Given the description of an element on the screen output the (x, y) to click on. 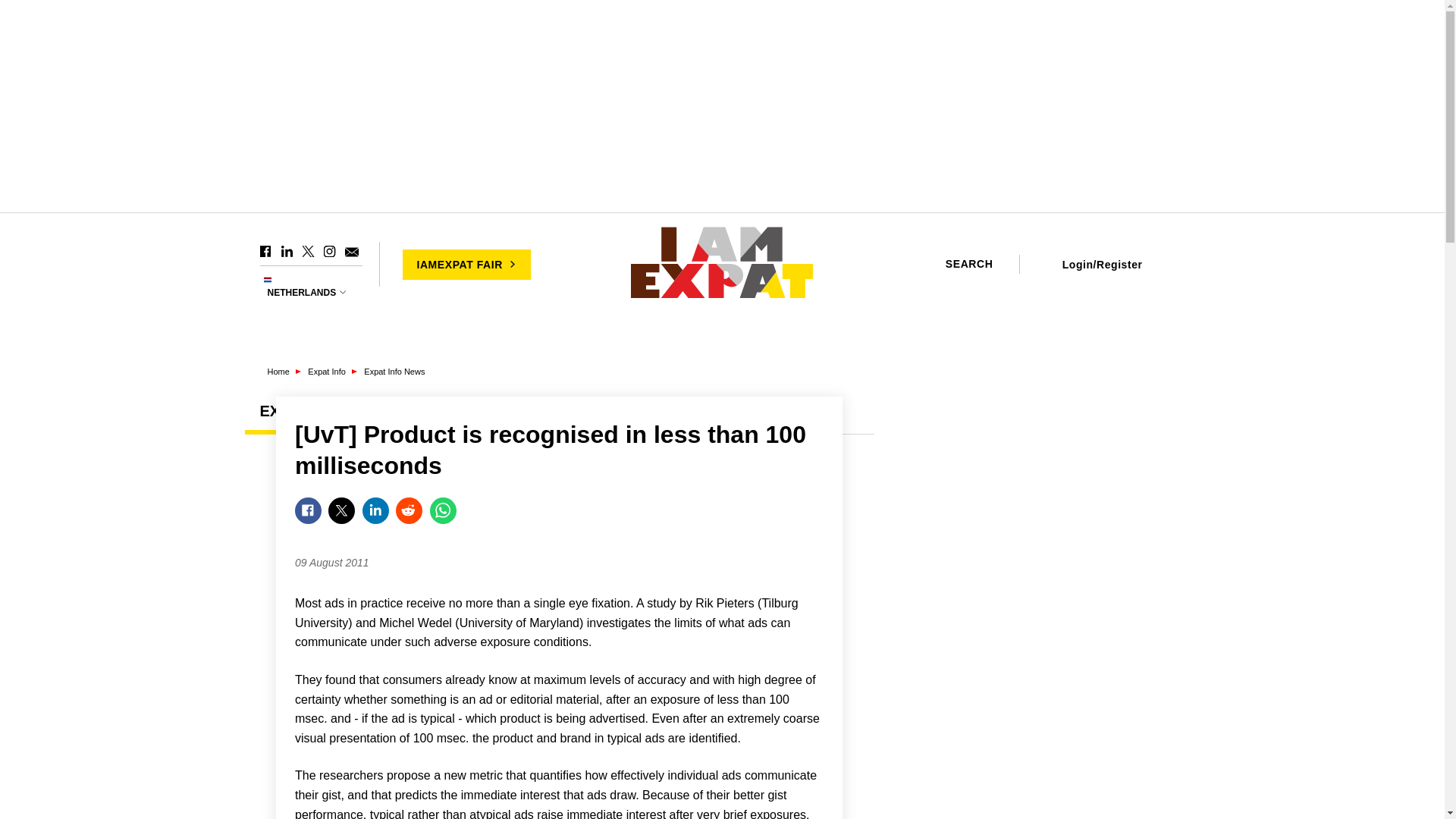
Facebook (265, 251)
IamExpat fair (465, 263)
NETHERLANDS (307, 292)
Newsletter (350, 251)
Home (721, 263)
Instagram (329, 251)
3rd party ad content (1047, 736)
IAMEXPAT FAIR (465, 263)
Linkedin (287, 251)
